Given the description of an element on the screen output the (x, y) to click on. 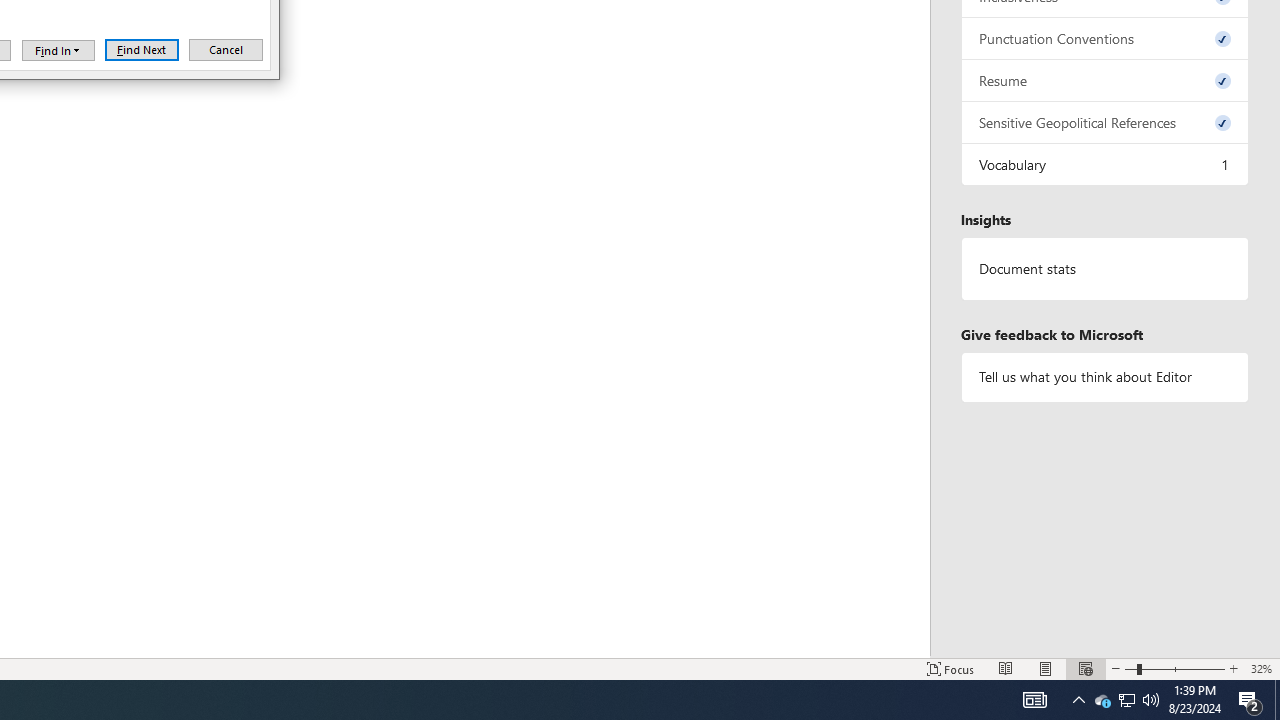
Zoom 32% (1126, 699)
MSO Generic Control Container (1261, 668)
User Promoted Notification Area (58, 49)
Resume, 0 issues. Press space or enter to review items. (1126, 699)
Vocabulary, 1 issue. Press space or enter to review items. (1105, 79)
Tell us what you think about Editor (1105, 164)
Notification Chevron (1105, 376)
